Given the description of an element on the screen output the (x, y) to click on. 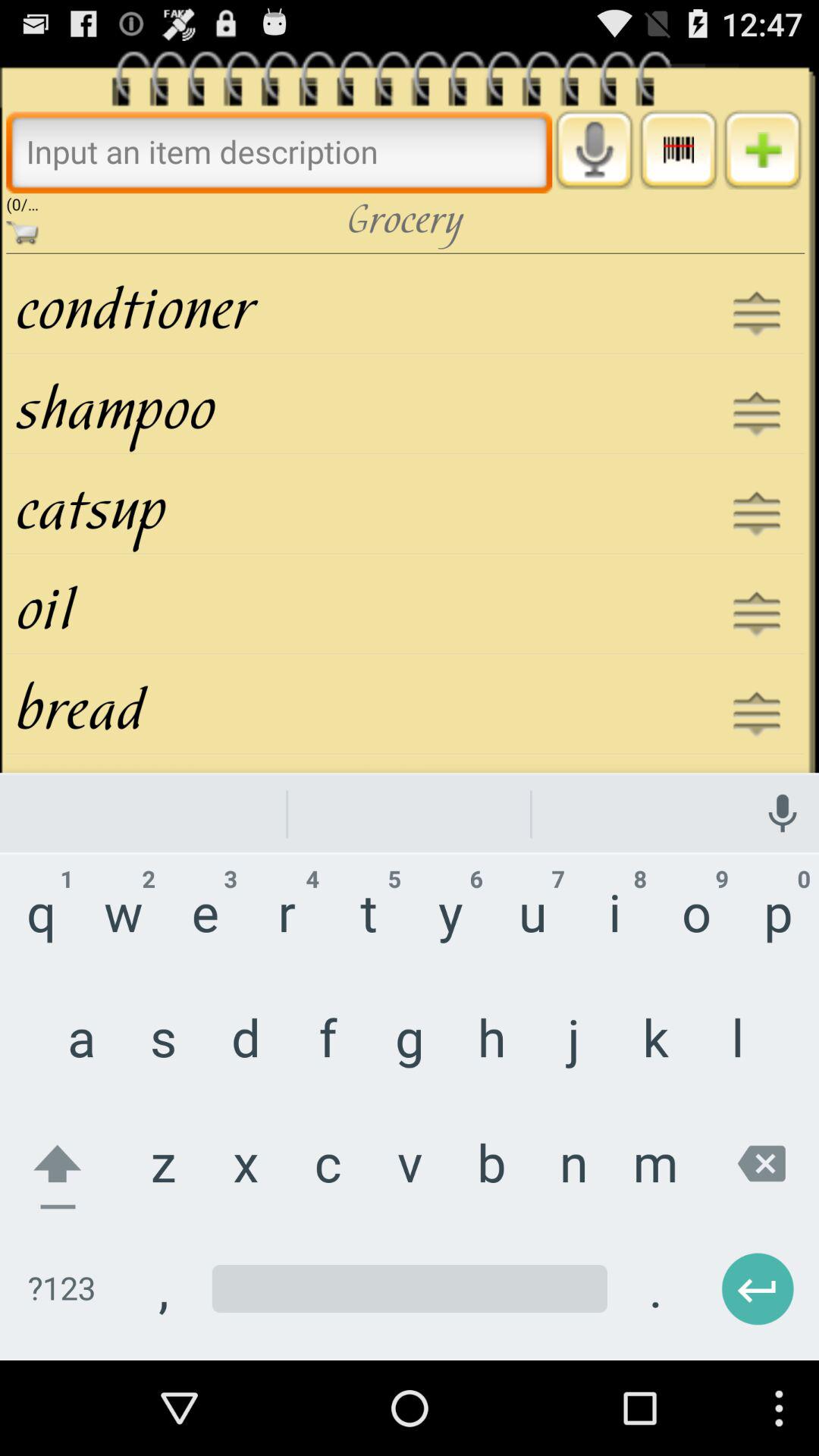
add page (762, 149)
